Given the description of an element on the screen output the (x, y) to click on. 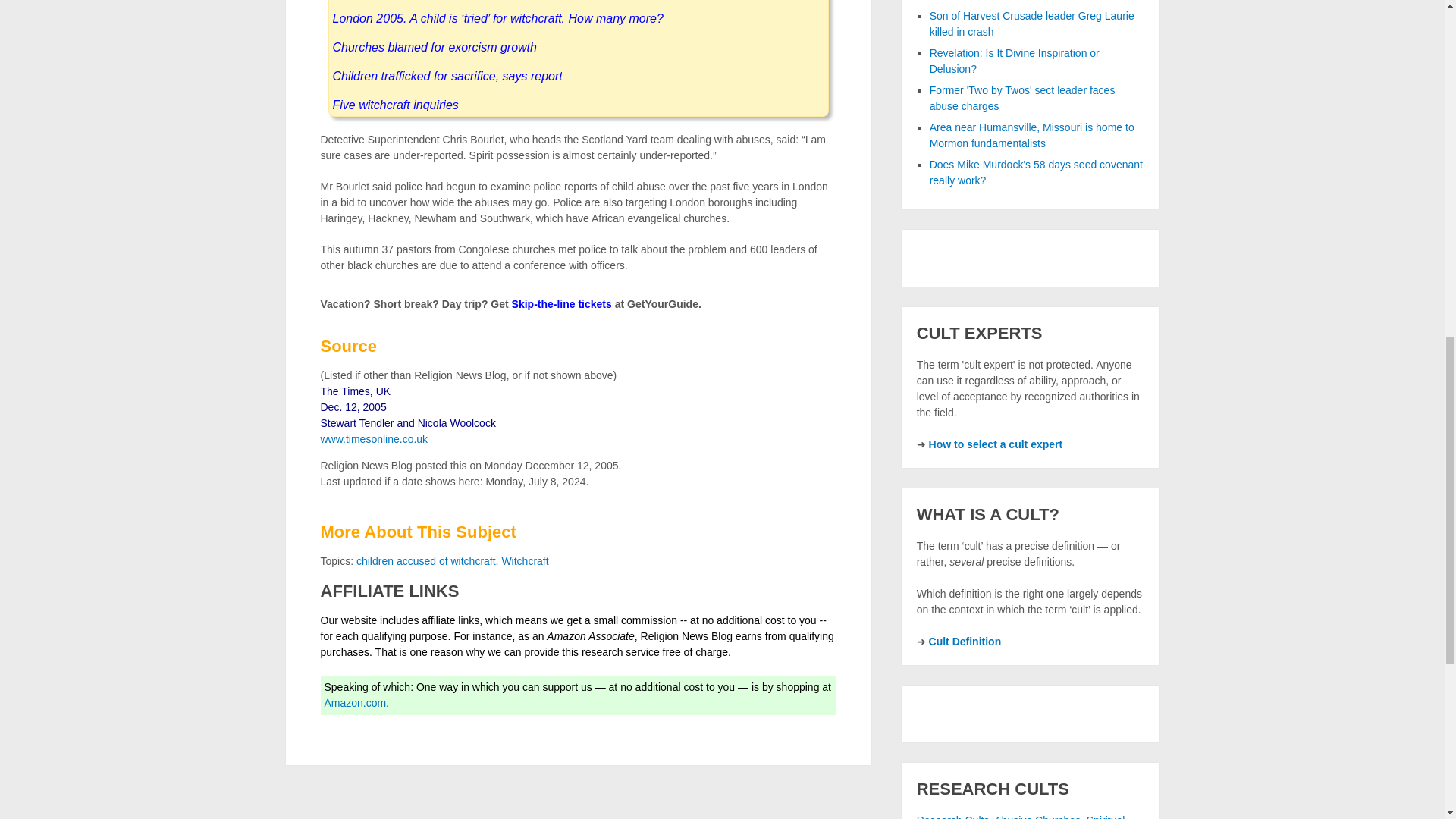
Amazon.com (355, 702)
Does Mike Murdock's 58 days seed covenant really work? (1036, 172)
Former 'Two by Twos' sect leader faces abuse charges (1022, 98)
Skip-the-line tickets (561, 304)
Witchcraft (524, 561)
www.timesonline.co.uk (374, 439)
Children trafficked for sacrifice, says report (446, 75)
Cult Definition (964, 641)
Five witchcraft inquiries (394, 104)
